Given the description of an element on the screen output the (x, y) to click on. 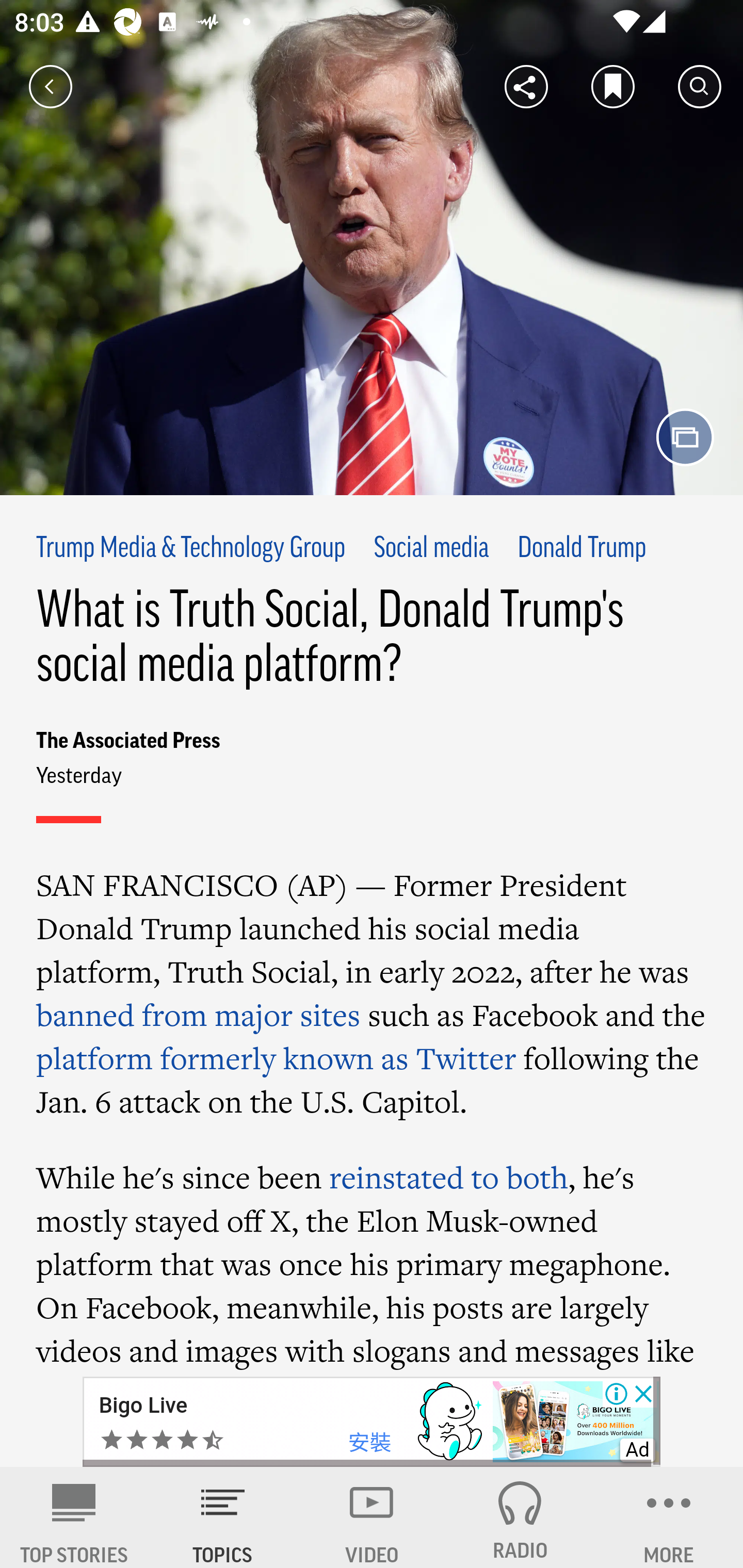
AP News TOP STORIES (74, 1517)
TOPICS (222, 1517)
VIDEO (371, 1517)
RADIO (519, 1517)
MORE (668, 1517)
